Given the description of an element on the screen output the (x, y) to click on. 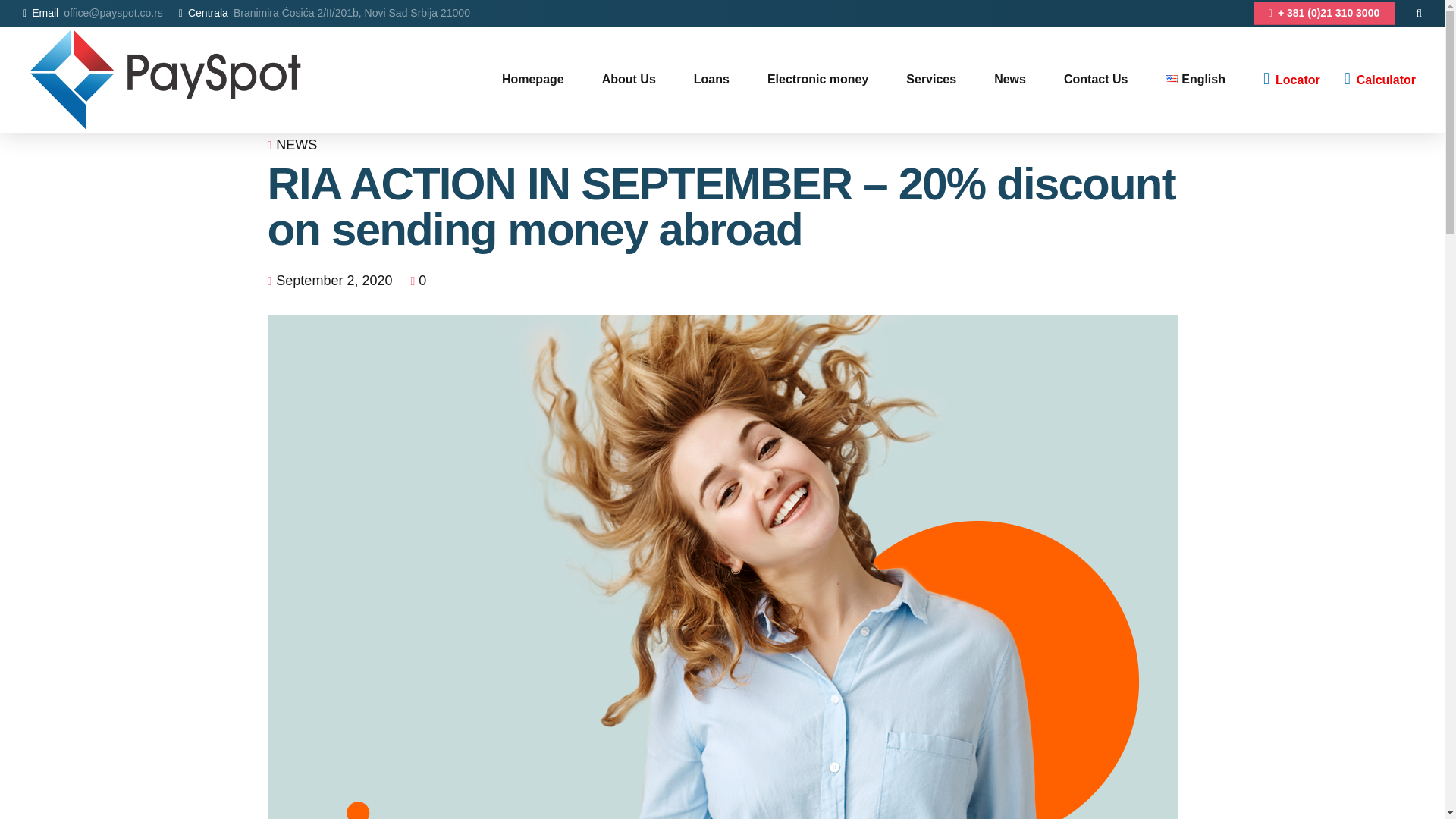
Calculator (1382, 79)
Contact Us (1095, 79)
About Us (629, 79)
News (1010, 79)
Homepage (533, 79)
Electronic money (817, 79)
Locator (1294, 79)
Services (930, 79)
English (1195, 79)
NEWS (296, 144)
0 (418, 281)
Loans (711, 79)
